Given the description of an element on the screen output the (x, y) to click on. 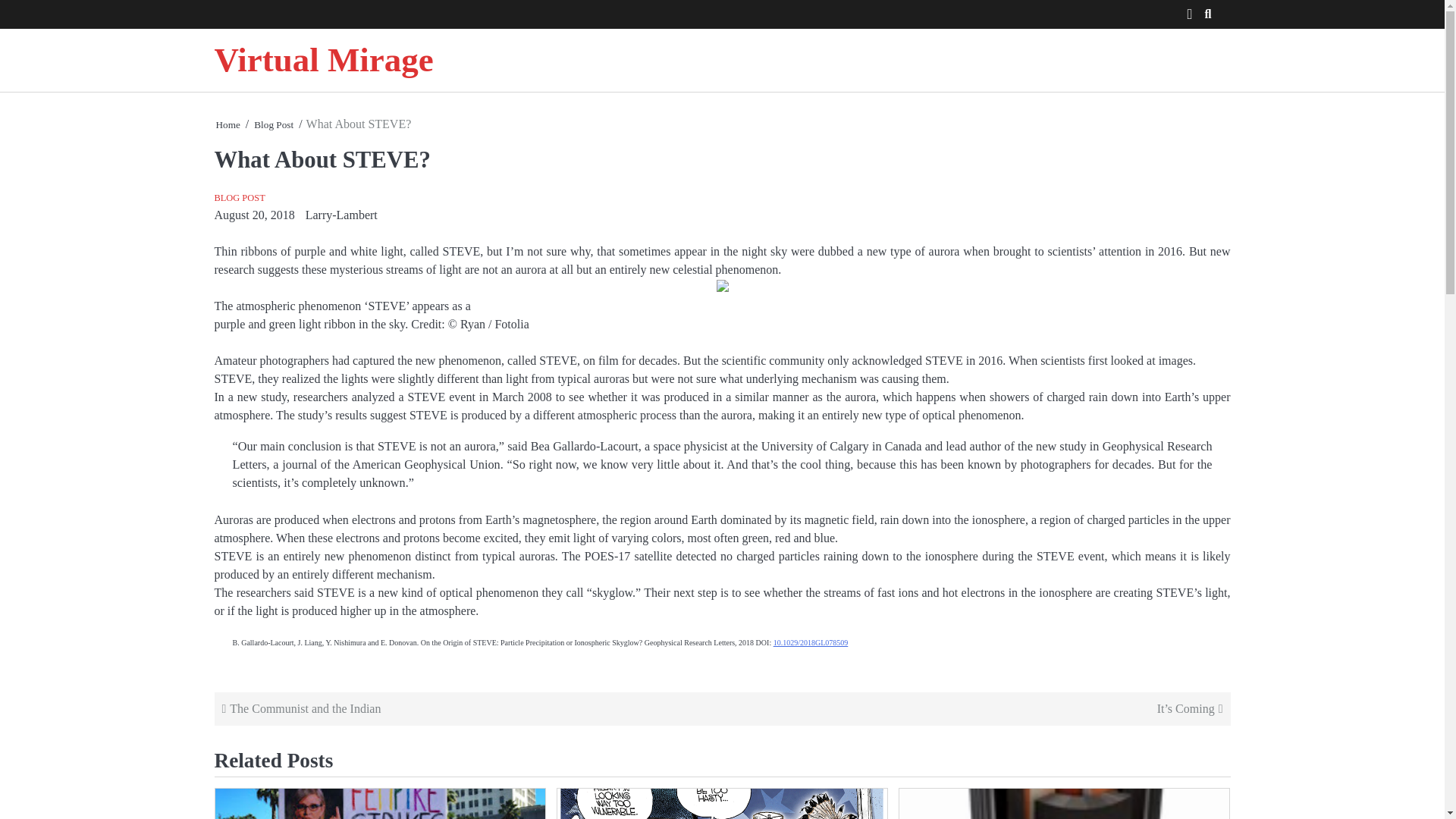
BLOG POST (239, 197)
Virtual Mirage (323, 59)
Home (227, 124)
Larry-Lambert (341, 214)
August 20, 2018 (254, 214)
Search (1191, 45)
Blog Post (273, 124)
The Communist and the Indian (469, 709)
